Given the description of an element on the screen output the (x, y) to click on. 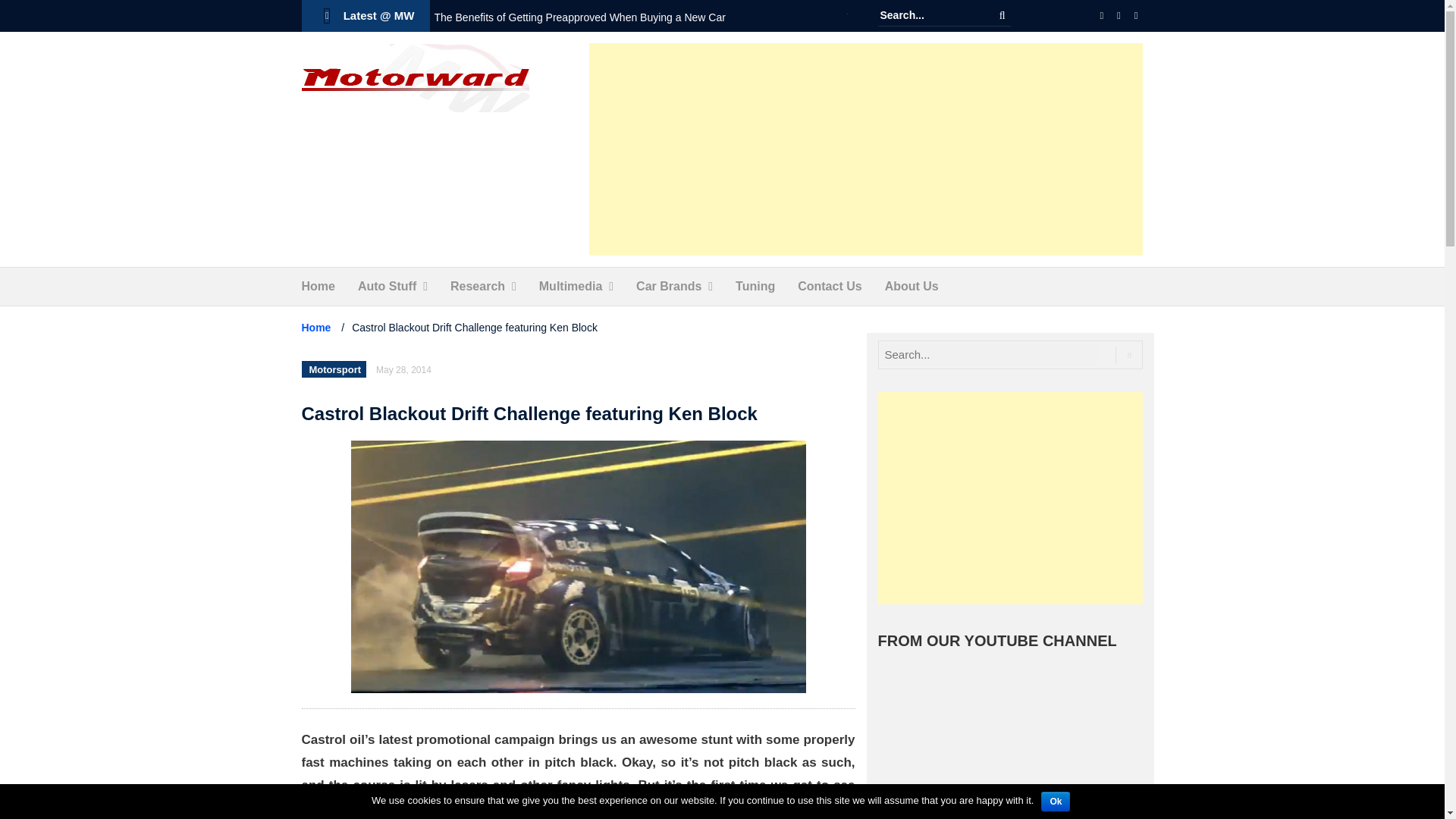
Home (317, 286)
Advertisement (865, 149)
Advertisement (1009, 498)
Auto Stuff (387, 286)
The Benefits of Getting Preapproved When Buying a New Car (579, 17)
Search   (1002, 14)
ken block light race 600x333 (577, 566)
Research (477, 286)
